Given the description of an element on the screen output the (x, y) to click on. 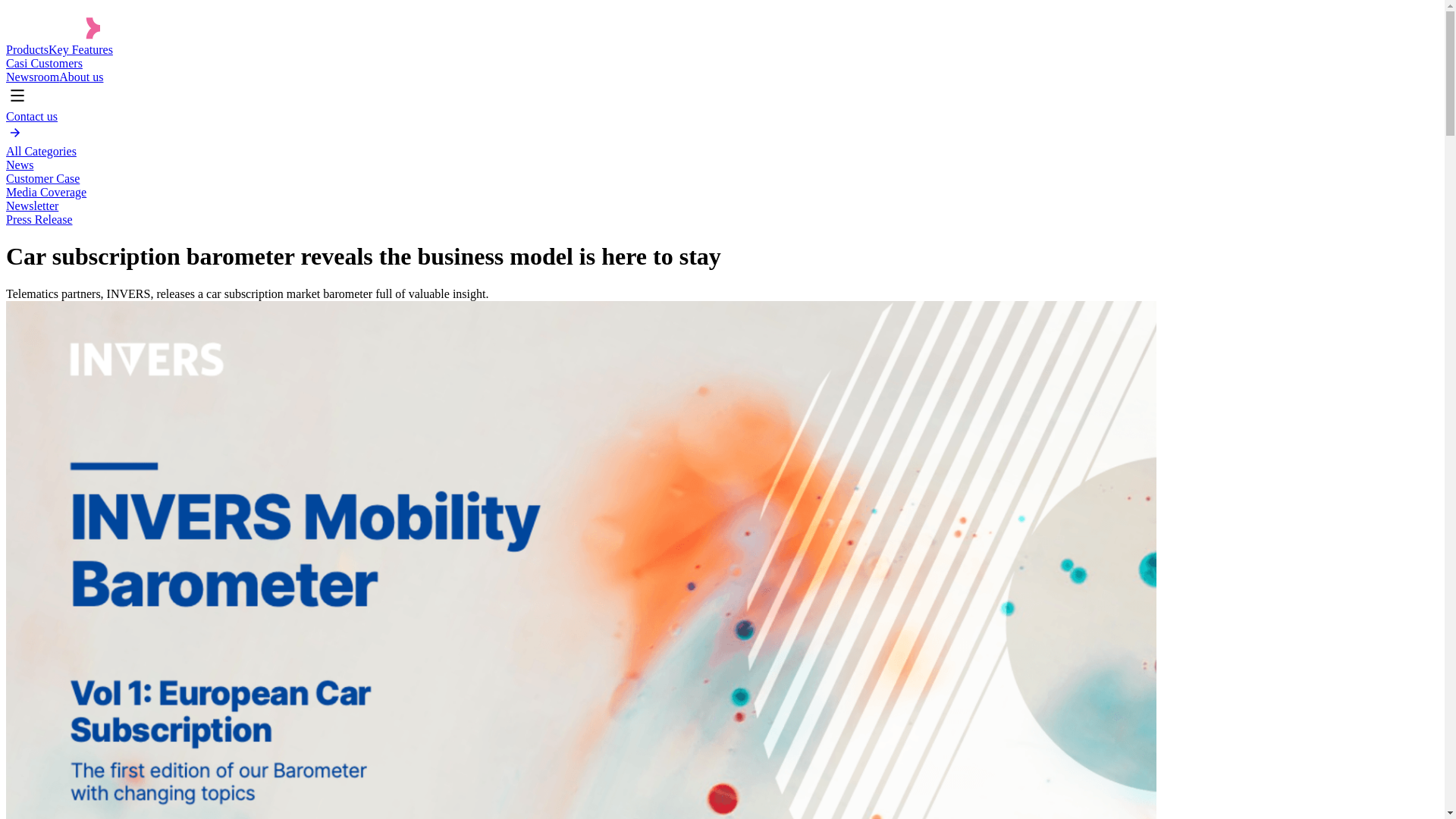
All Categories (41, 151)
News (19, 164)
Customer Case (42, 178)
Press Release (38, 219)
About us (81, 76)
Key Features (80, 49)
Casi Customers (43, 62)
Newsletter (31, 205)
Media Coverage (45, 192)
Products (26, 49)
Newsroom (32, 76)
